Given the description of an element on the screen output the (x, y) to click on. 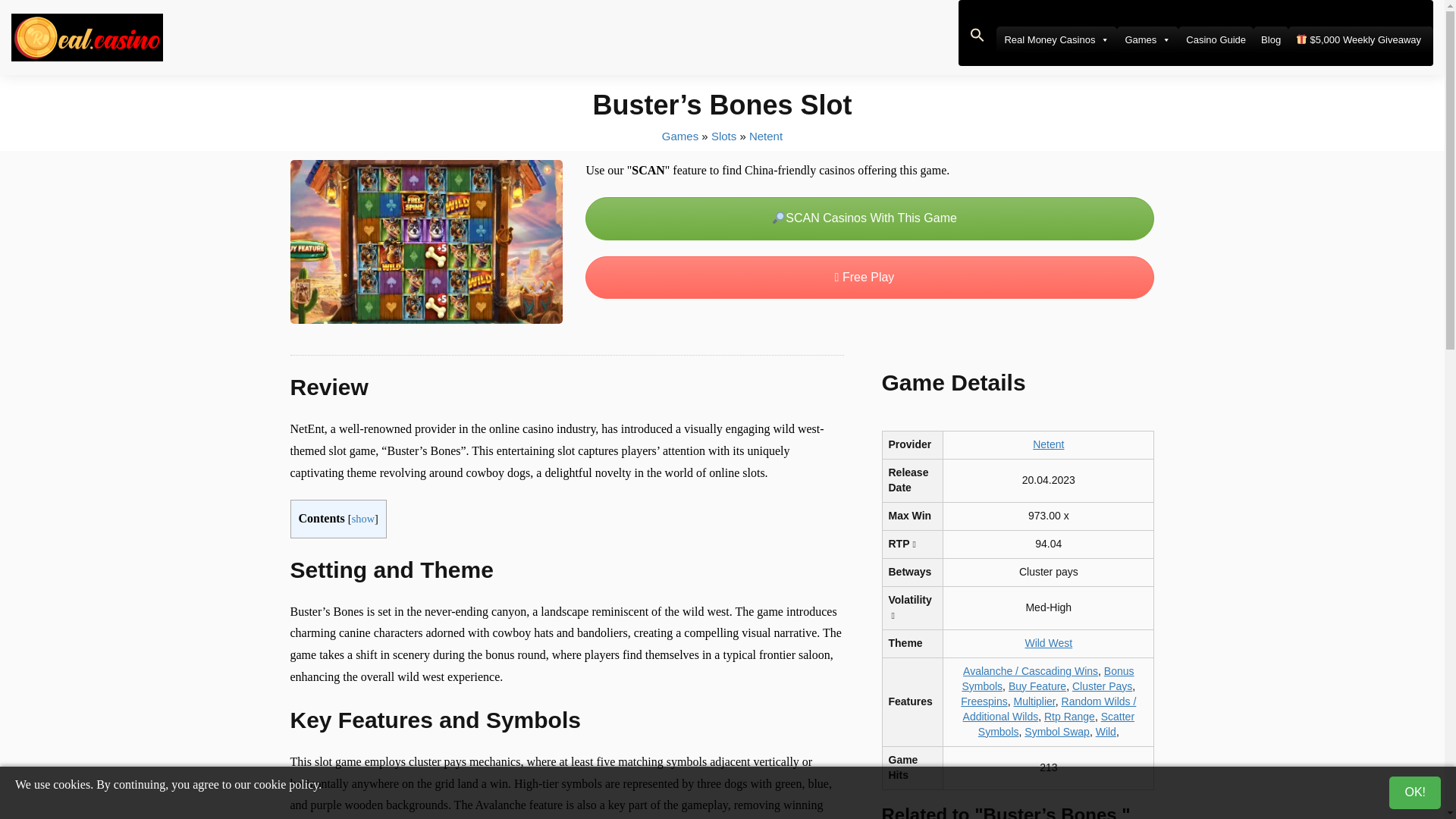
Online Casino Games (680, 135)
Games (1146, 39)
Real Money Casinos (1055, 39)
Online Slots (723, 135)
Netent Slots (766, 135)
